Given the description of an element on the screen output the (x, y) to click on. 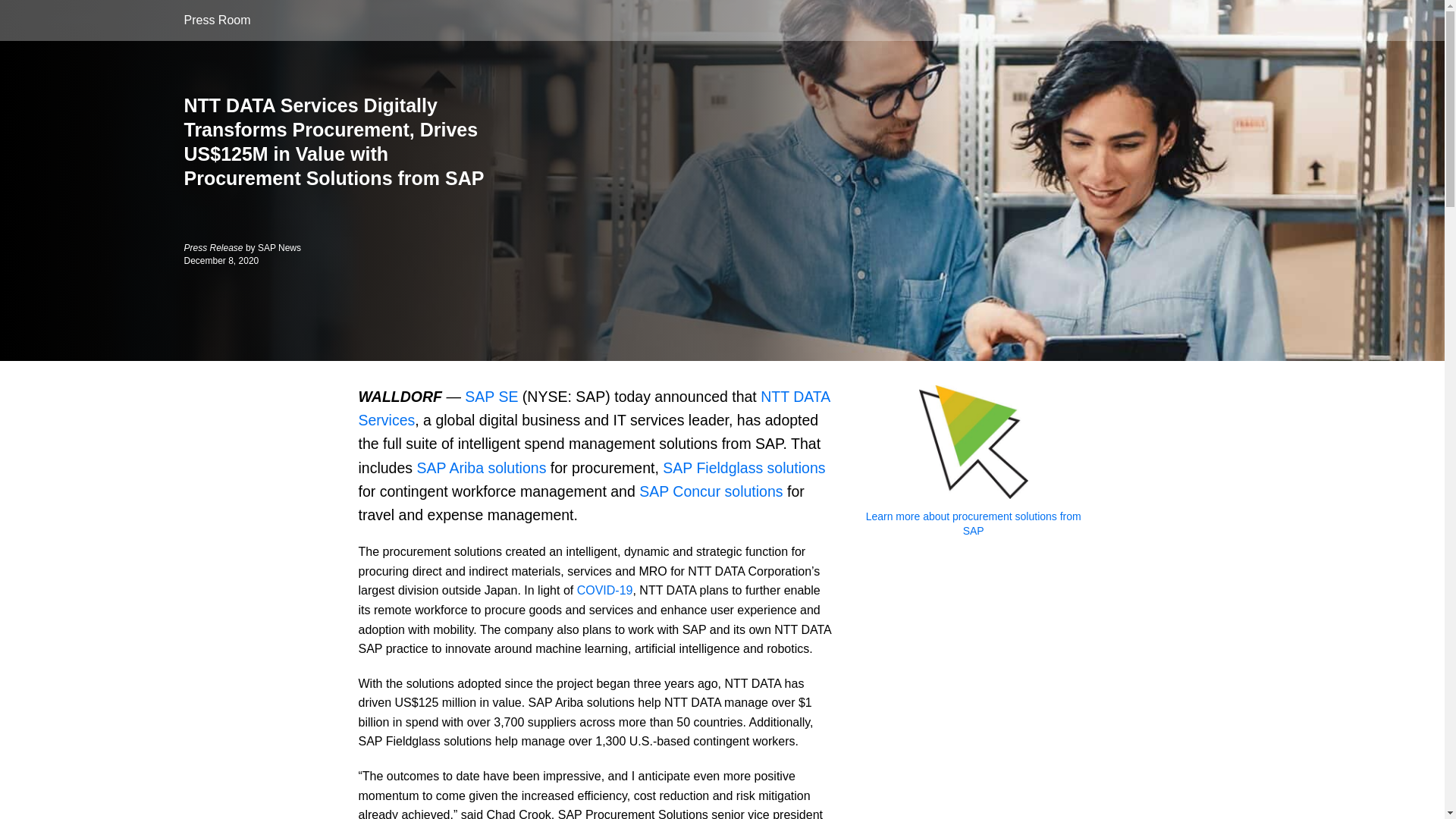
Posts by SAP News (279, 247)
Press Release (213, 247)
Press Room (216, 19)
SAP SE (491, 396)
SAP Concur solutions (711, 491)
SAP Ariba solutions (481, 467)
NTT DATA Services (593, 408)
Press Room (216, 19)
SAP News (279, 247)
COVID-19 (604, 590)
